Given the description of an element on the screen output the (x, y) to click on. 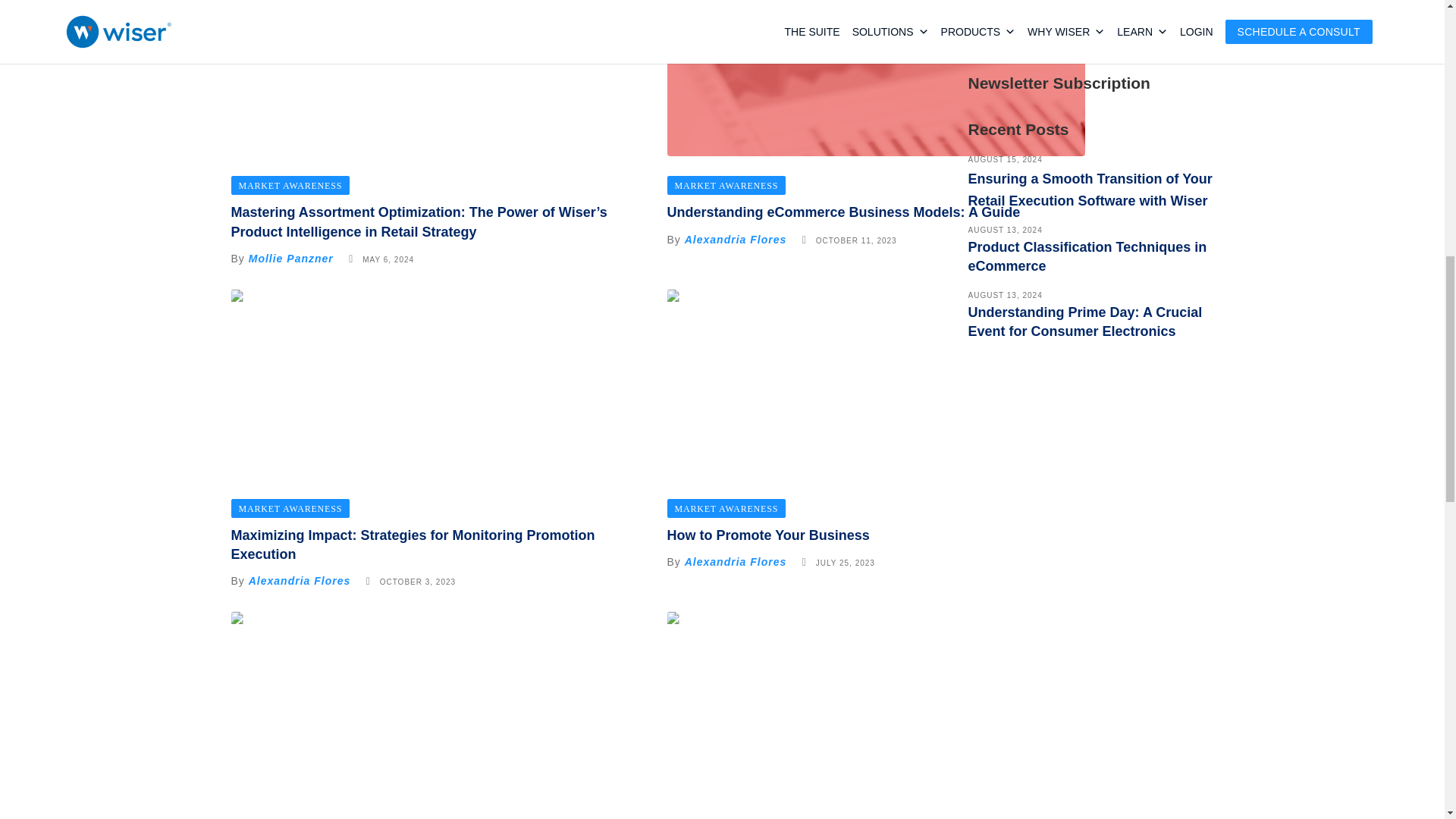
Posts by Alexandria Flores (735, 562)
Posts by Alexandria Flores (299, 580)
Posts by Mollie Panzner (290, 258)
Posts by Alexandria Flores (735, 239)
